Given the description of an element on the screen output the (x, y) to click on. 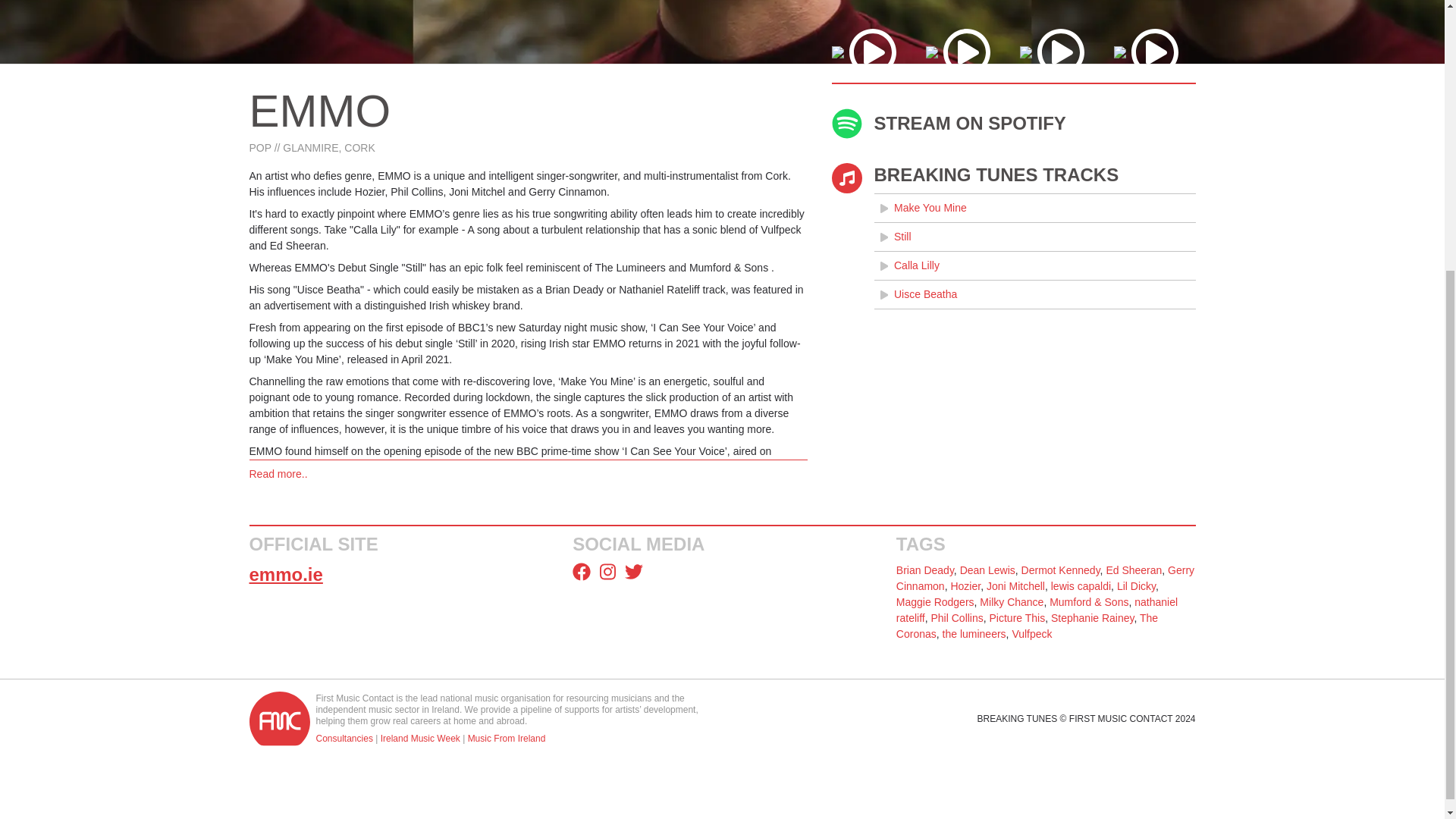
STREAM ON SPOTIFY (1013, 123)
Ed Sheeran (1133, 570)
Joni Mitchell (1016, 585)
Dermot Kennedy (1061, 570)
Hozier (964, 585)
Uisce Beatha (1034, 294)
Make You Mine (1034, 207)
Dean Lewis (986, 570)
Calla Lilly (1034, 265)
Brian Deady (924, 570)
